Given the description of an element on the screen output the (x, y) to click on. 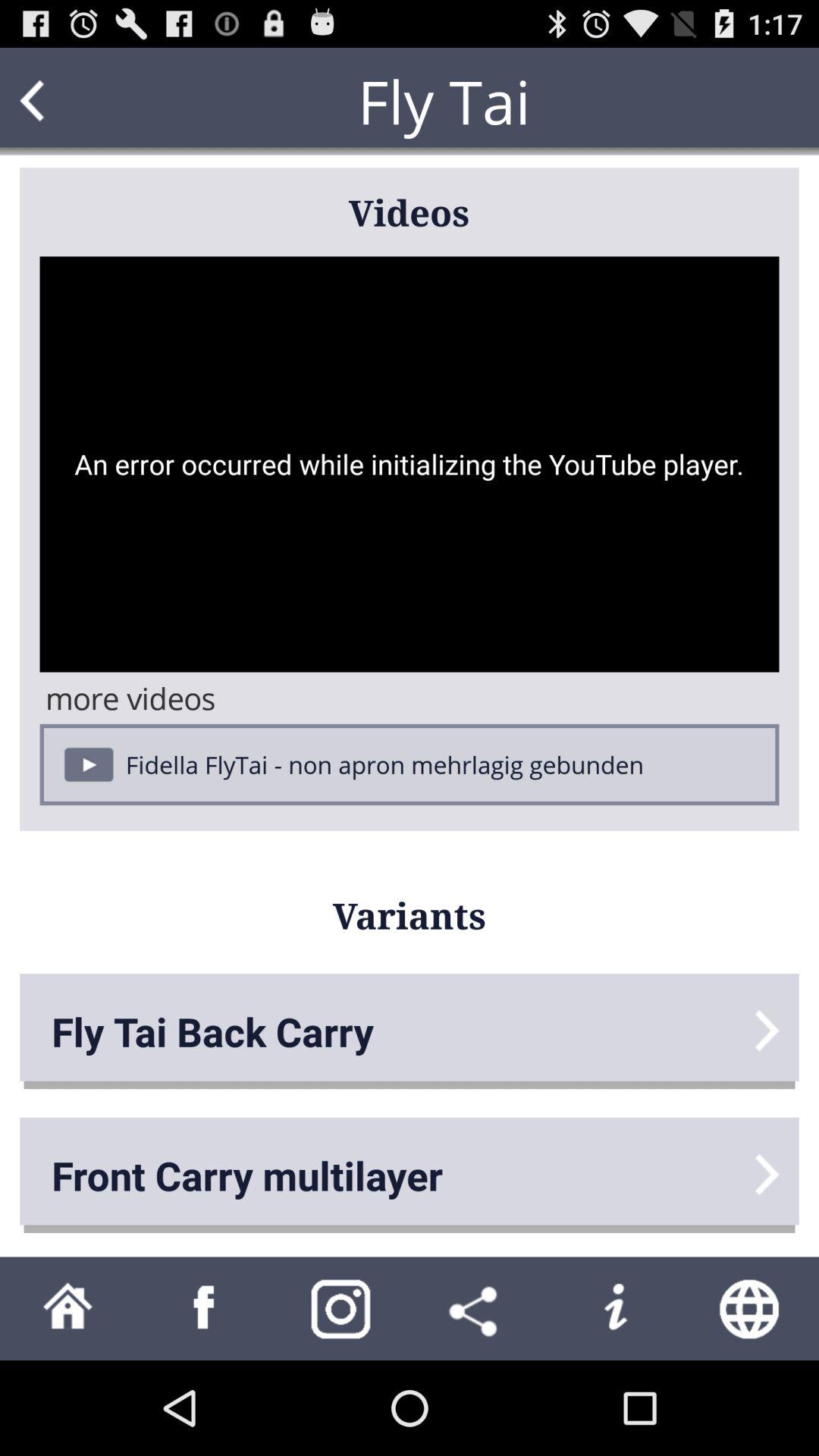
photo (341, 1308)
